Given the description of an element on the screen output the (x, y) to click on. 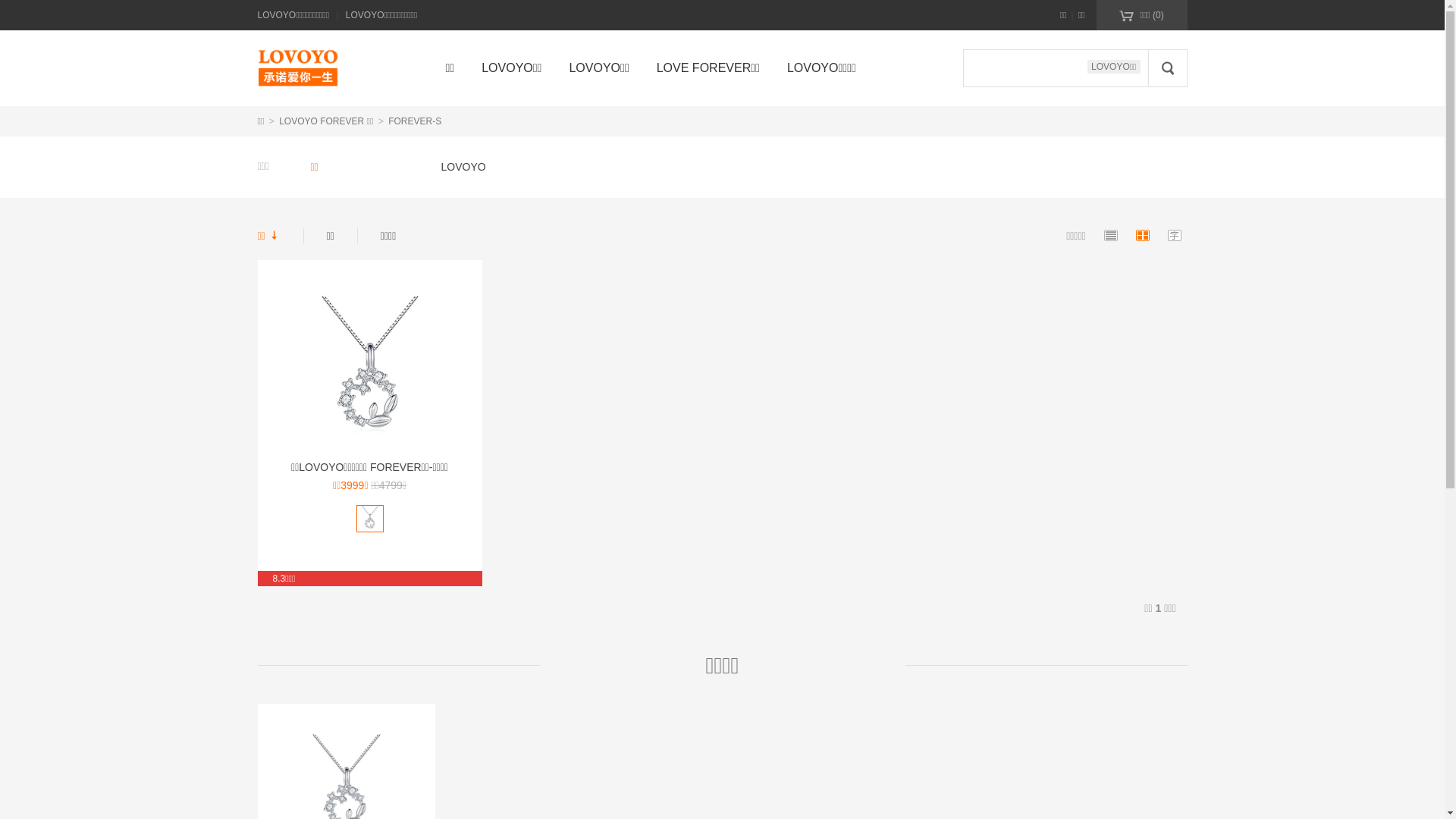
LOVOYO Element type: hover (280, 67)
   Element type: text (379, 72)
FOREVER-S Element type: text (414, 121)
LOVOYO Element type: text (463, 166)
